Given the description of an element on the screen output the (x, y) to click on. 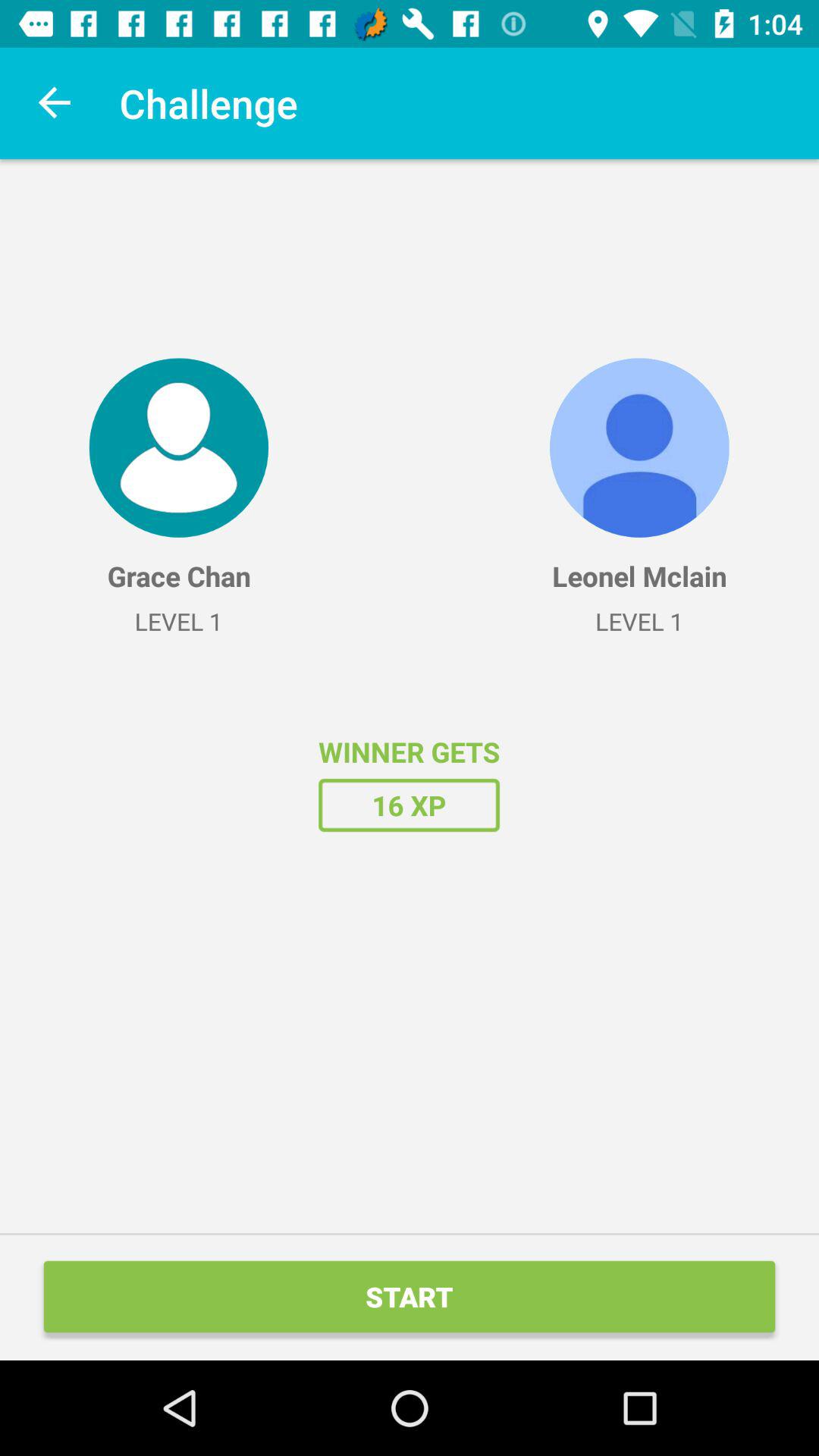
open the item at the top right corner (639, 447)
